Given the description of an element on the screen output the (x, y) to click on. 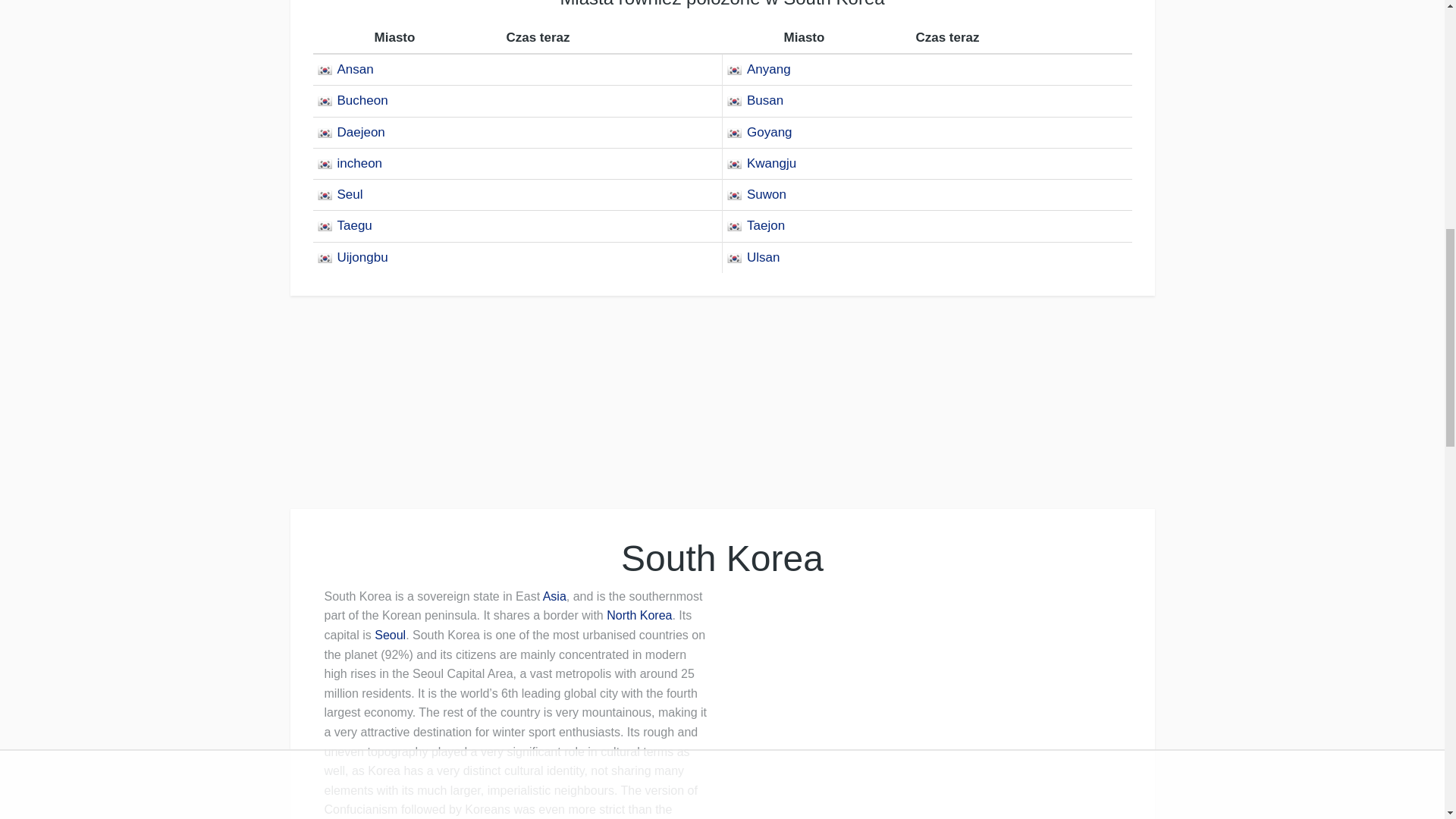
Uijongbu (352, 257)
North Korea (639, 615)
Seoul (390, 634)
Daejeon (351, 132)
Asia (554, 595)
Goyang (760, 132)
Ansan (345, 69)
Bucheon (352, 100)
Busan (756, 100)
Anyang (759, 69)
Ulsan (753, 257)
Suwon (757, 194)
Taegu (344, 225)
Taejon (756, 225)
Kwangju (762, 163)
